Given the description of an element on the screen output the (x, y) to click on. 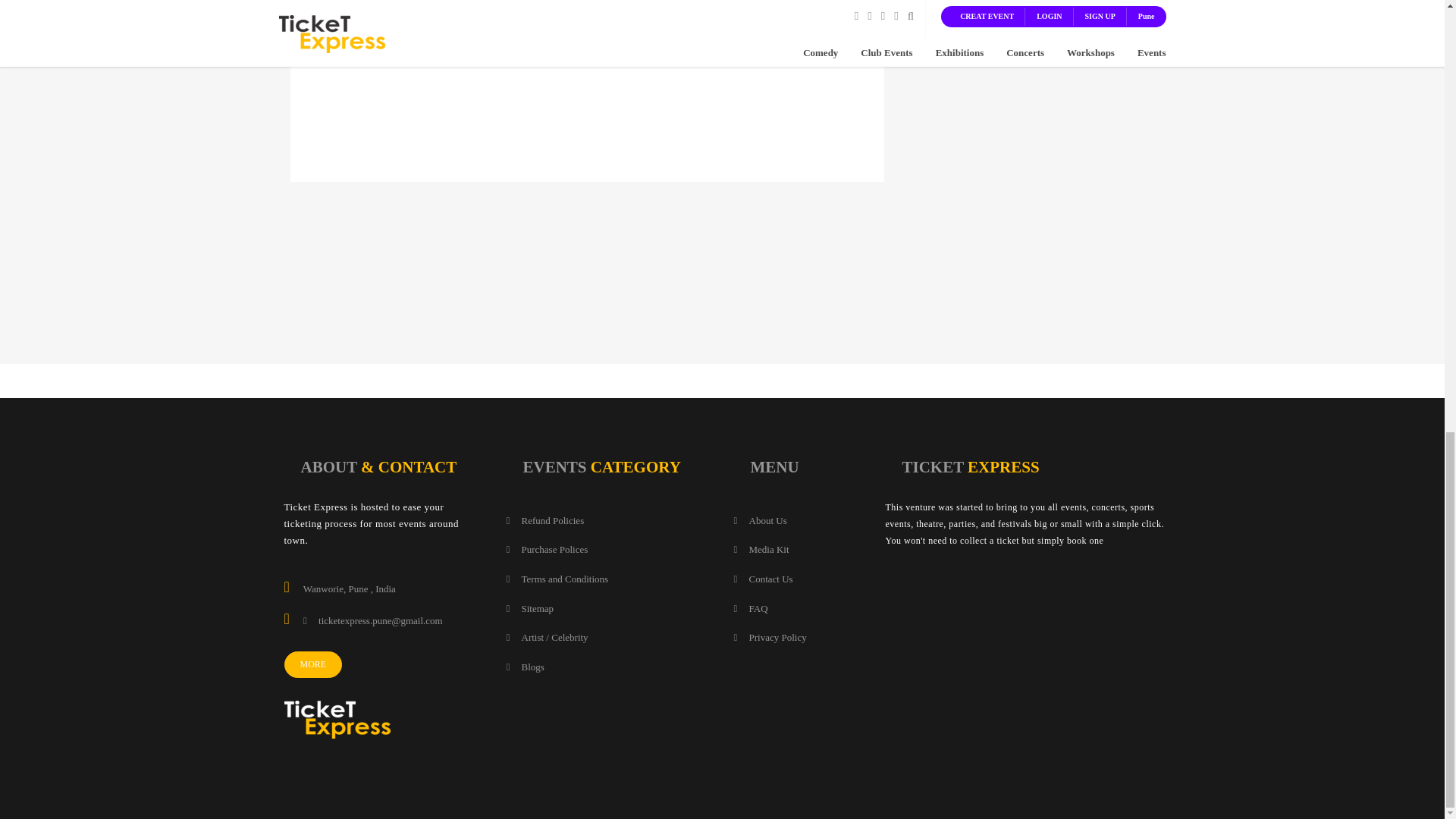
Refund Policies (545, 521)
MORE (312, 664)
